Given the description of an element on the screen output the (x, y) to click on. 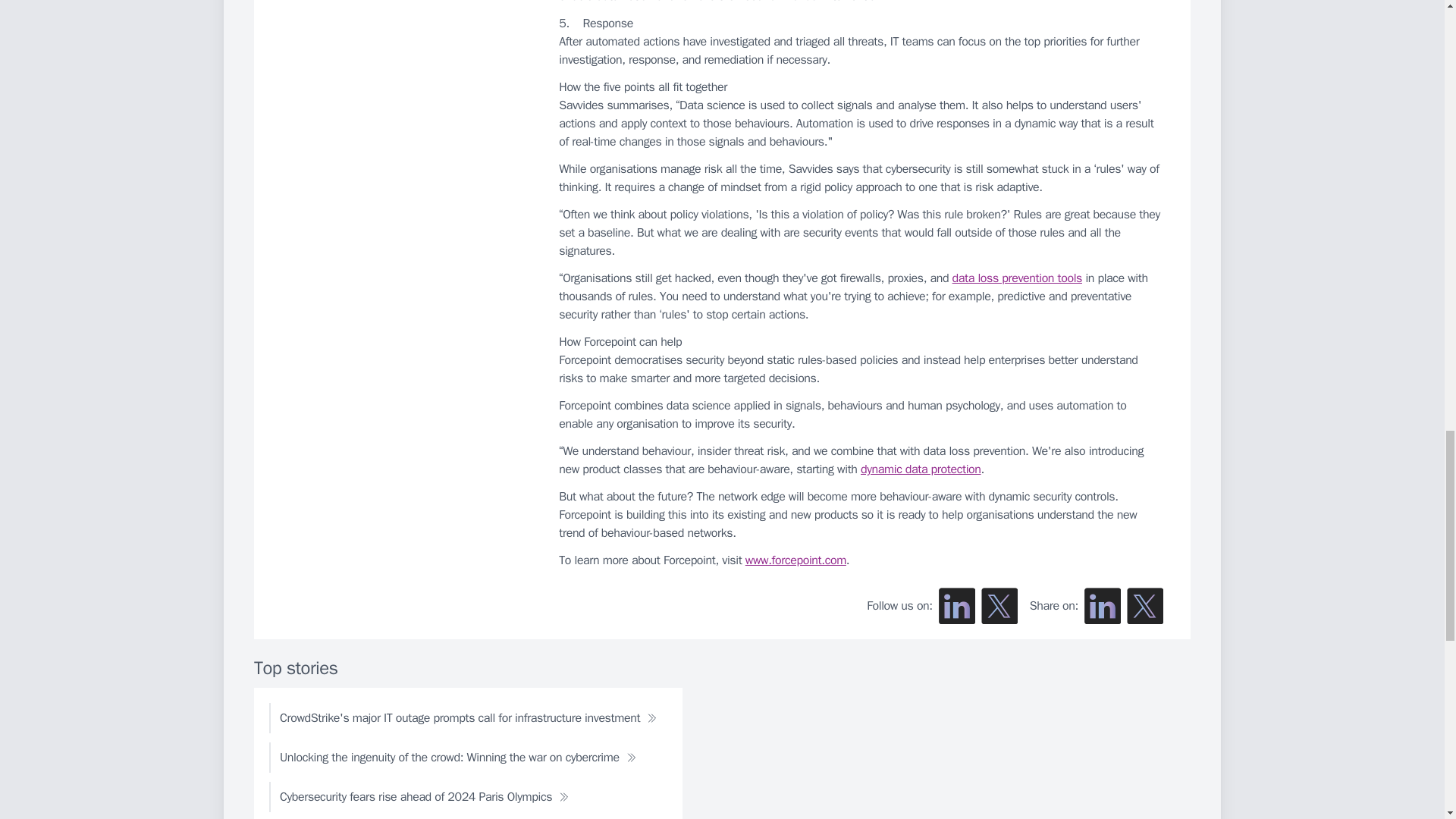
Cybersecurity fears rise ahead of 2024 Paris Olympics (424, 797)
dynamic data protection (920, 468)
data loss prevention tools (1016, 278)
www.forcepoint.com (795, 560)
